Given the description of an element on the screen output the (x, y) to click on. 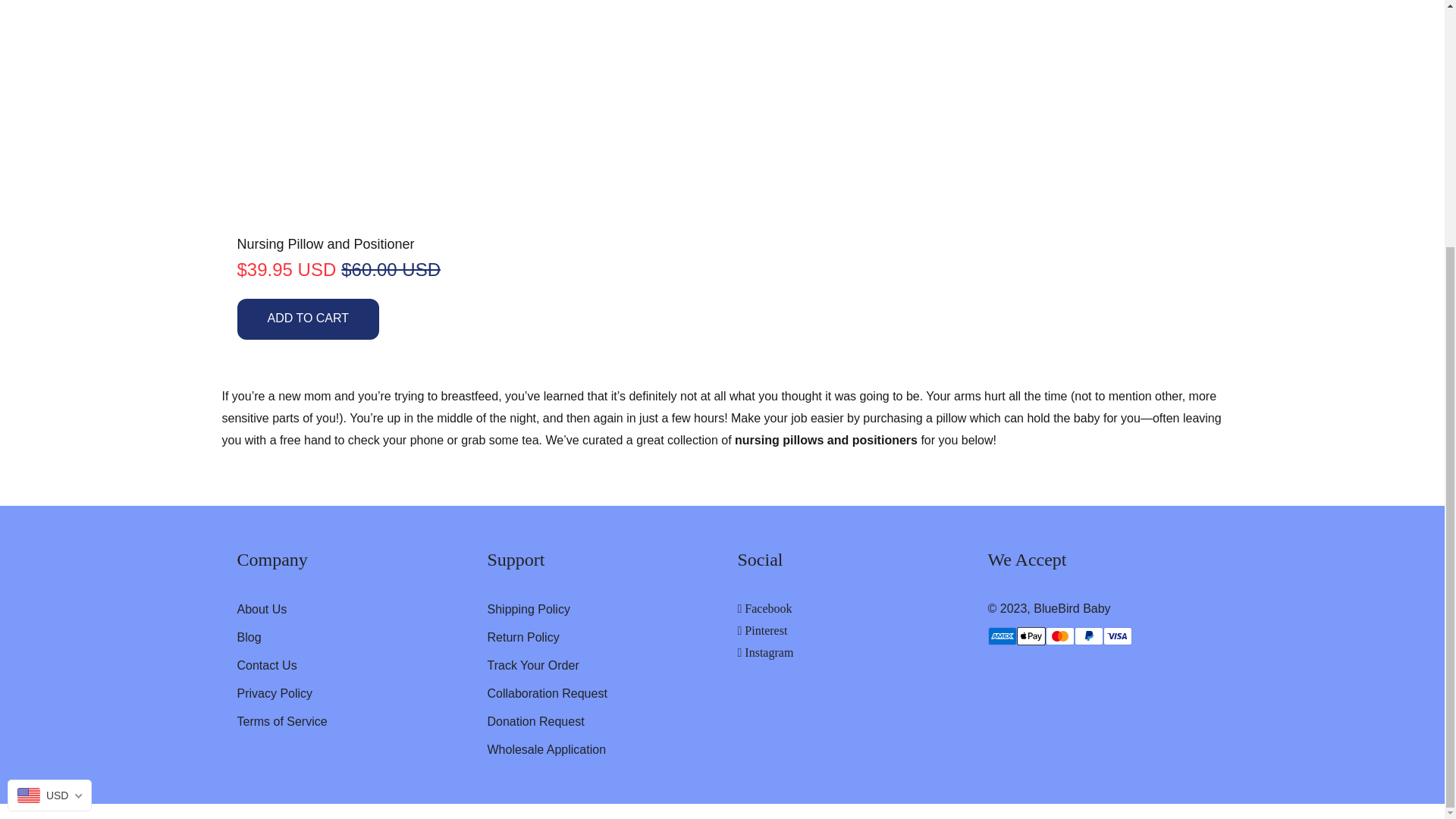
BlueBird Baby on Facebook (764, 608)
Visa (1116, 636)
PayPal (1088, 636)
BlueBird Baby on Instagram (764, 652)
BlueBird Baby on Pinterest (761, 630)
Mastercard (1059, 636)
Apple Pay (1030, 636)
American Express (1001, 636)
